Given the description of an element on the screen output the (x, y) to click on. 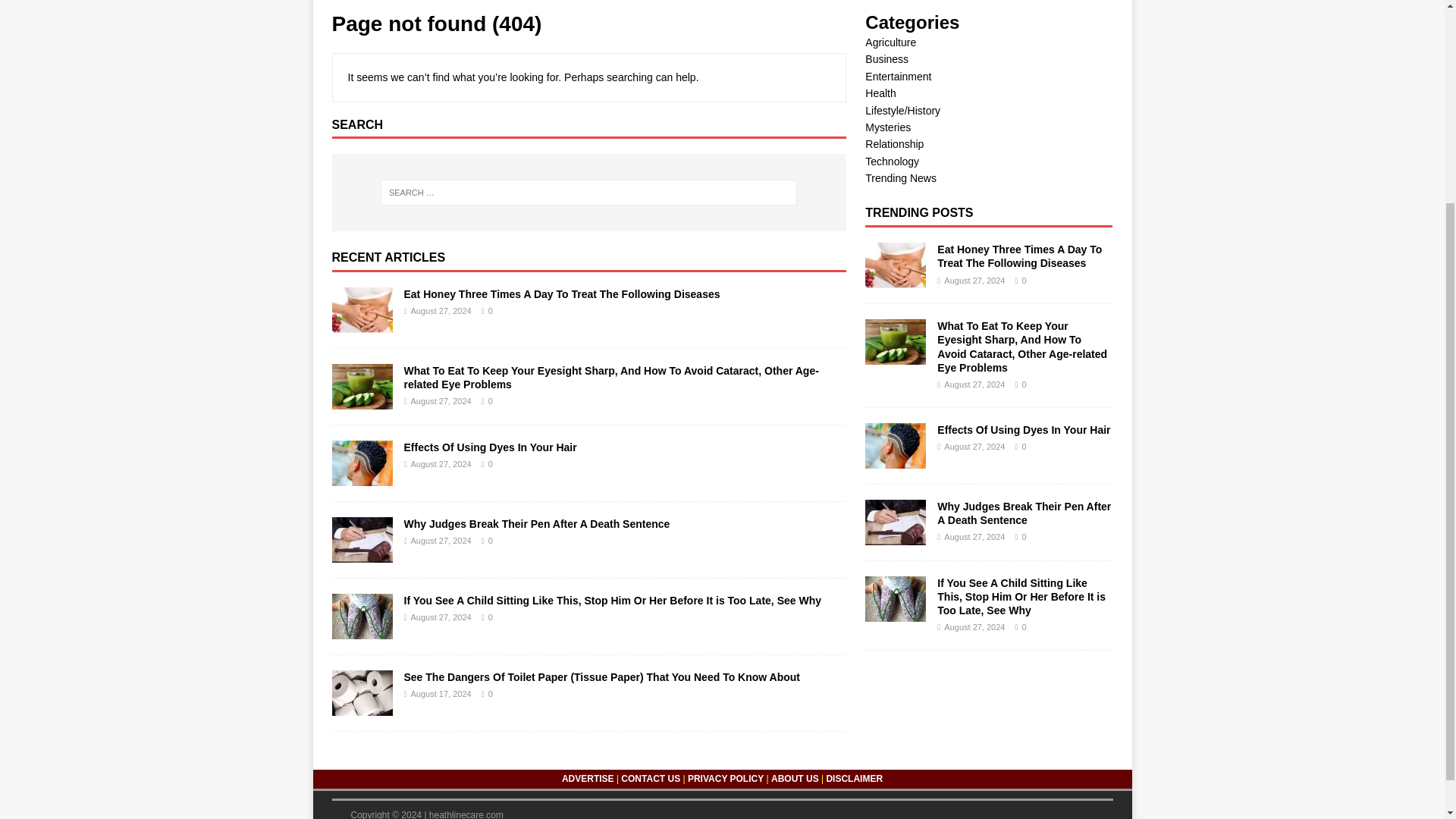
Eat Honey Three Times A Day To Treat The Following Diseases (362, 324)
Eat Honey Three Times A Day To Treat The Following Diseases (561, 294)
Why Judges Break Their Pen After A Death Sentence (362, 553)
Eat Honey Three Times A Day To Treat The Following Diseases (1019, 256)
Eat Honey Three Times A Day To Treat The Following Diseases (895, 279)
Eat Honey Three Times A Day To Treat The Following Diseases (561, 294)
Effects Of Using Dyes In Your Hair (489, 447)
